Given the description of an element on the screen output the (x, y) to click on. 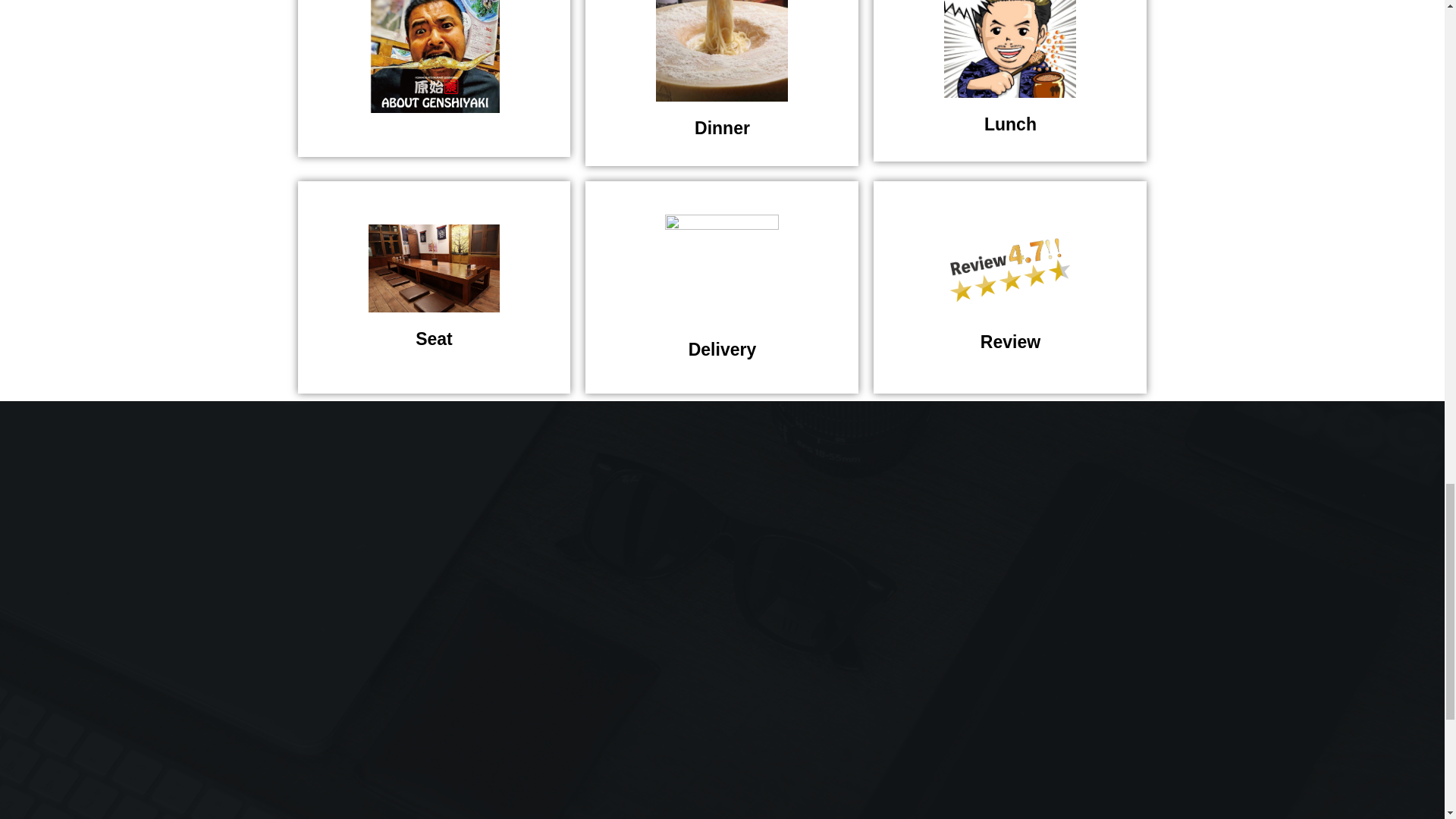
Dinner (722, 83)
Review (1010, 286)
Lunch (1010, 81)
Delivery (722, 286)
Seat (433, 286)
